Given the description of an element on the screen output the (x, y) to click on. 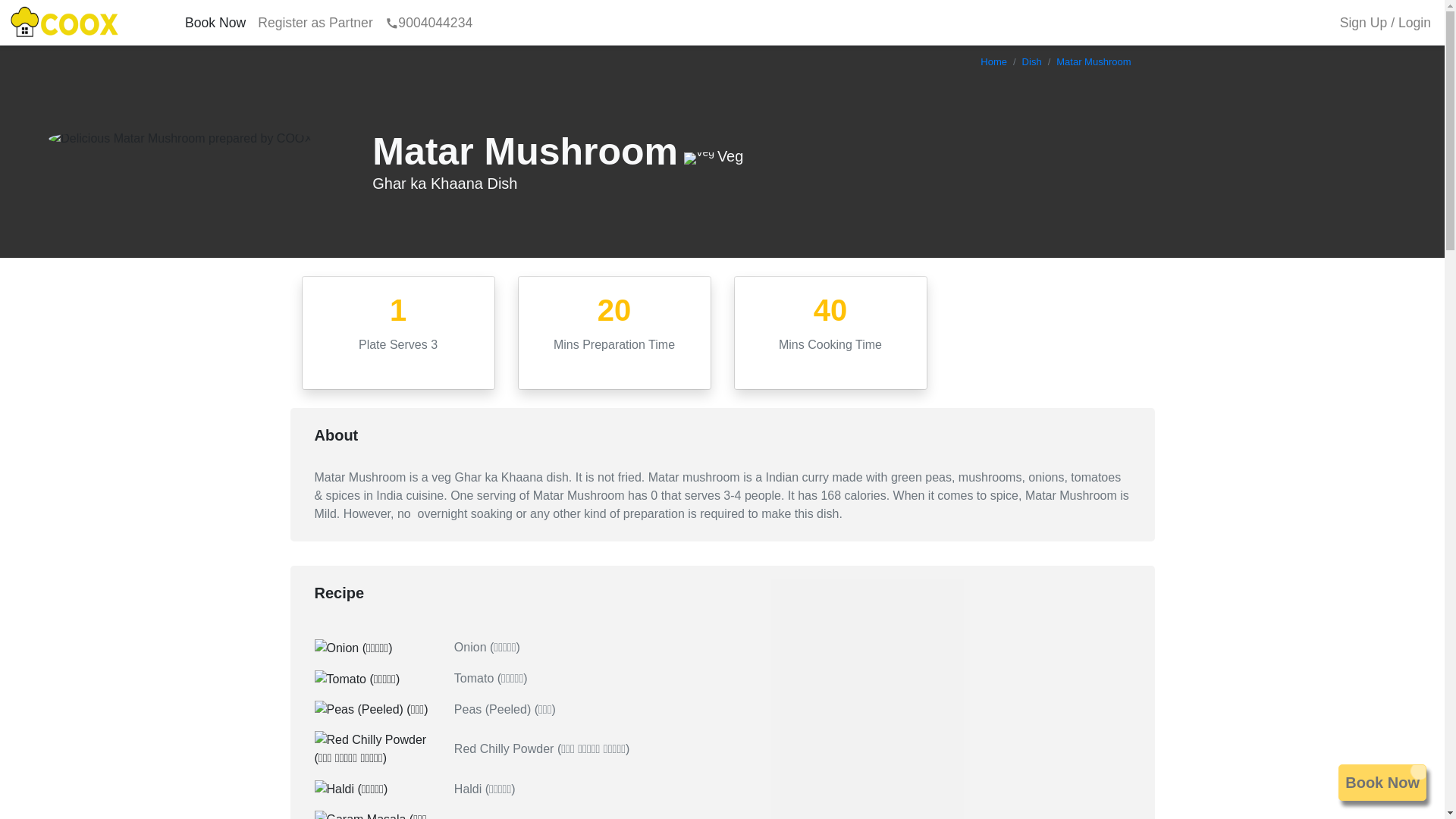
Book Now (1382, 782)
9004044234 (428, 22)
Matar Mushroom (1094, 61)
Register as Partner (314, 22)
Dish (1032, 61)
Home (993, 61)
Book Now (215, 22)
